Given the description of an element on the screen output the (x, y) to click on. 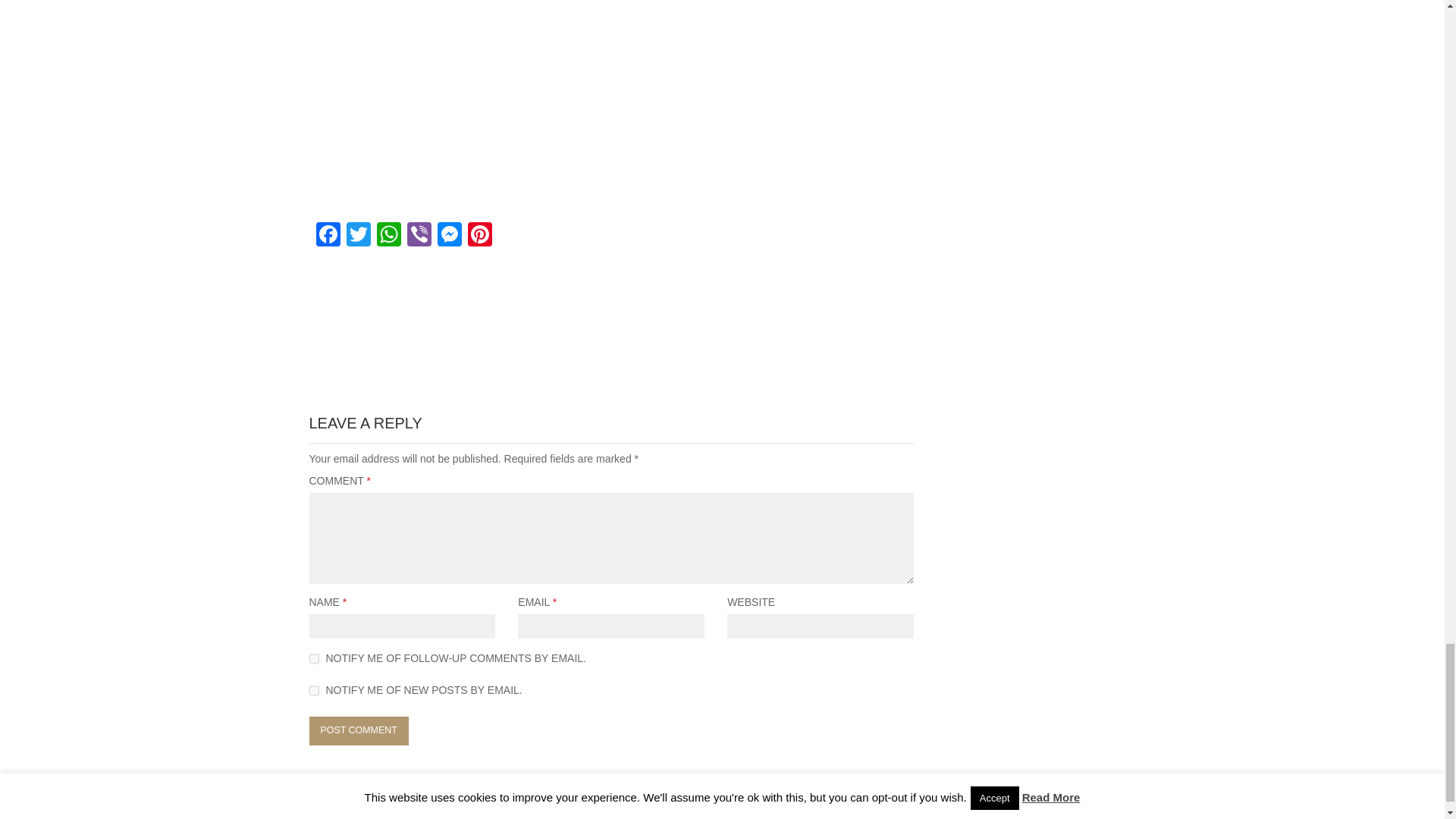
Twitter (357, 235)
Twitter (357, 235)
Viber (418, 235)
Post Comment (358, 730)
Post Comment (358, 730)
Messenger (448, 235)
Facebook (327, 235)
WhatsApp (387, 235)
WhatsApp (387, 235)
Viber (418, 235)
Facebook (327, 235)
Pinterest (479, 235)
